Given the description of an element on the screen output the (x, y) to click on. 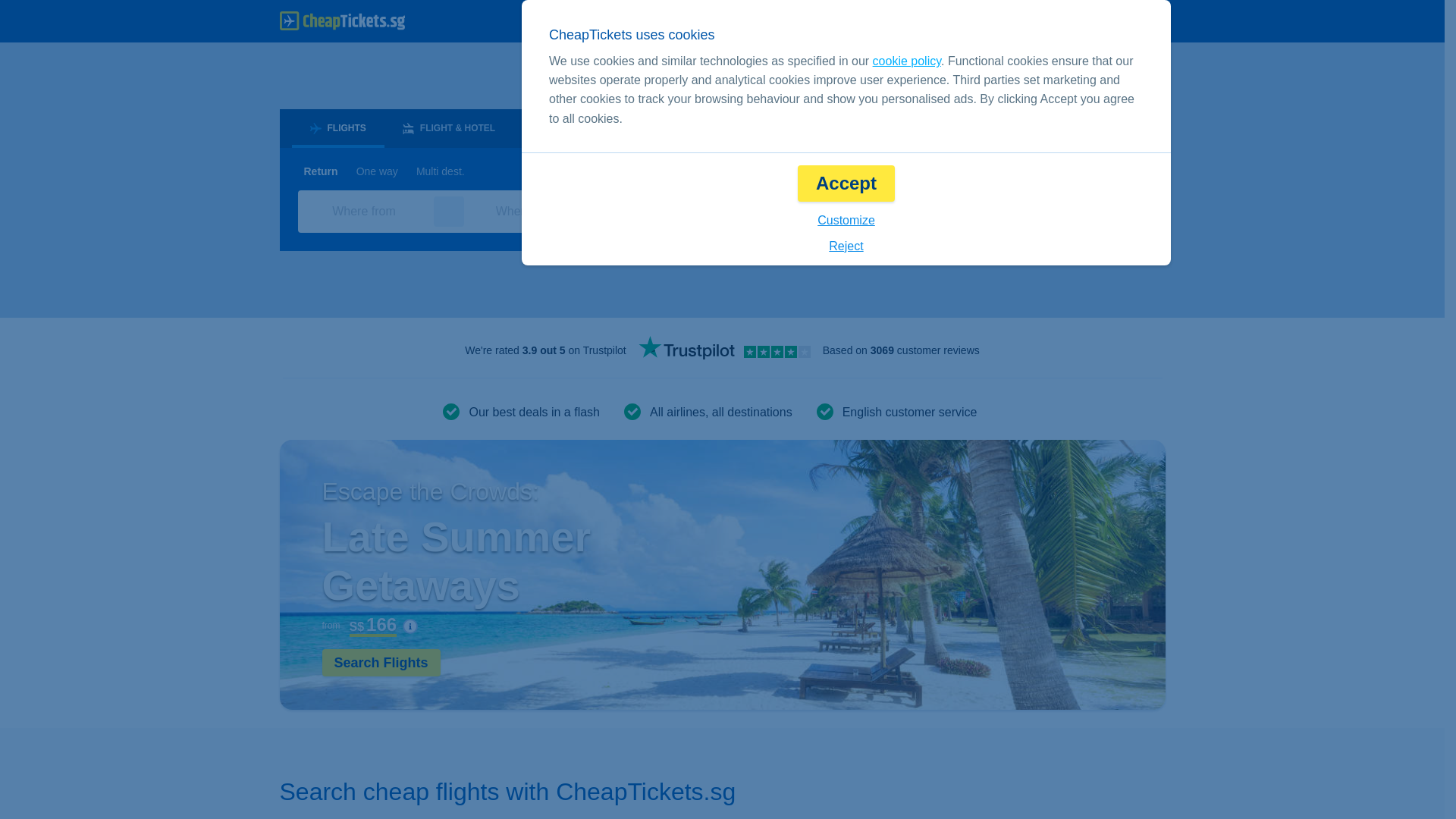
My Account (1116, 21)
English (902, 21)
Based on 3069 customer reviews (900, 350)
Search Flights (380, 662)
Search (1087, 211)
